Given the description of an element on the screen output the (x, y) to click on. 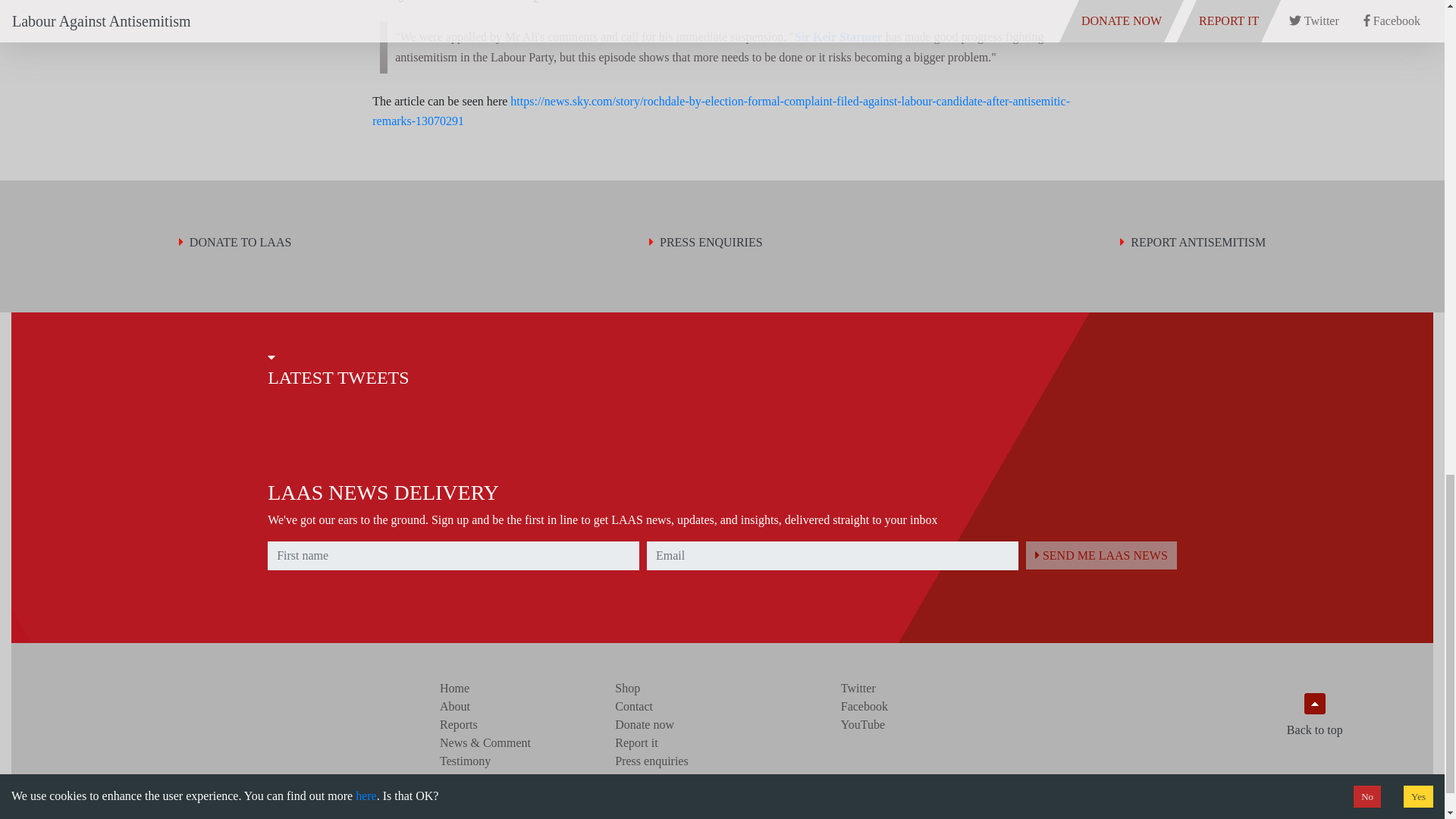
Report it (636, 742)
REPORT ANTISEMITISM (1192, 242)
Testimony (464, 760)
Reports (458, 724)
Home (453, 687)
YouTube (863, 724)
Sir Keir Starmer (838, 36)
Donate now (644, 724)
SEND ME LAAS NEWS (1101, 555)
Contact (633, 706)
Twitter (858, 687)
Shop (627, 687)
Facebook (864, 706)
About (454, 706)
Press enquiries (650, 760)
